Given the description of an element on the screen output the (x, y) to click on. 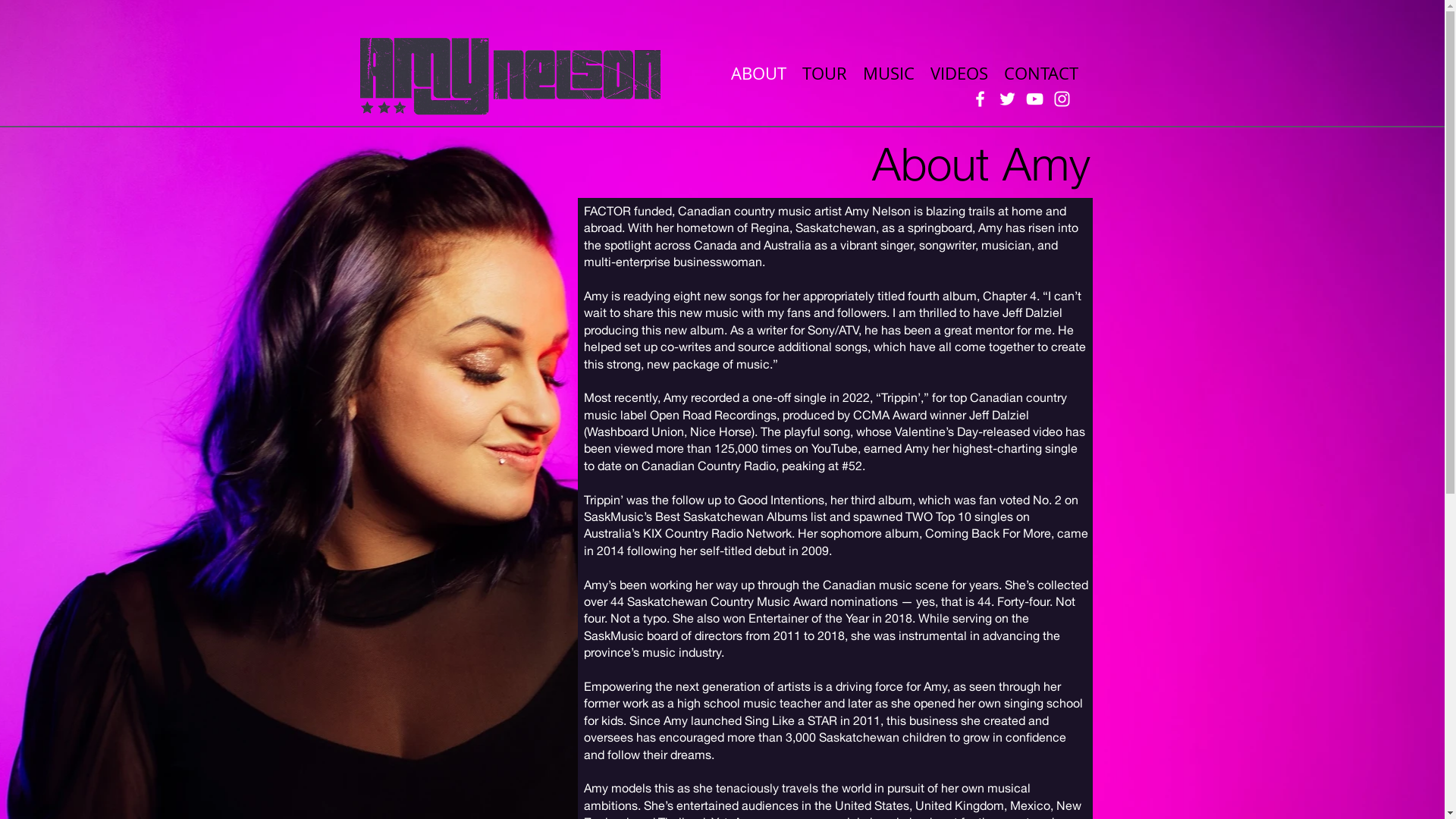
CONTACT Element type: text (1040, 72)
TOUR Element type: text (824, 72)
ABOUT Element type: text (758, 72)
MUSIC Element type: text (888, 72)
VIDEOS Element type: text (958, 72)
